Given the description of an element on the screen output the (x, y) to click on. 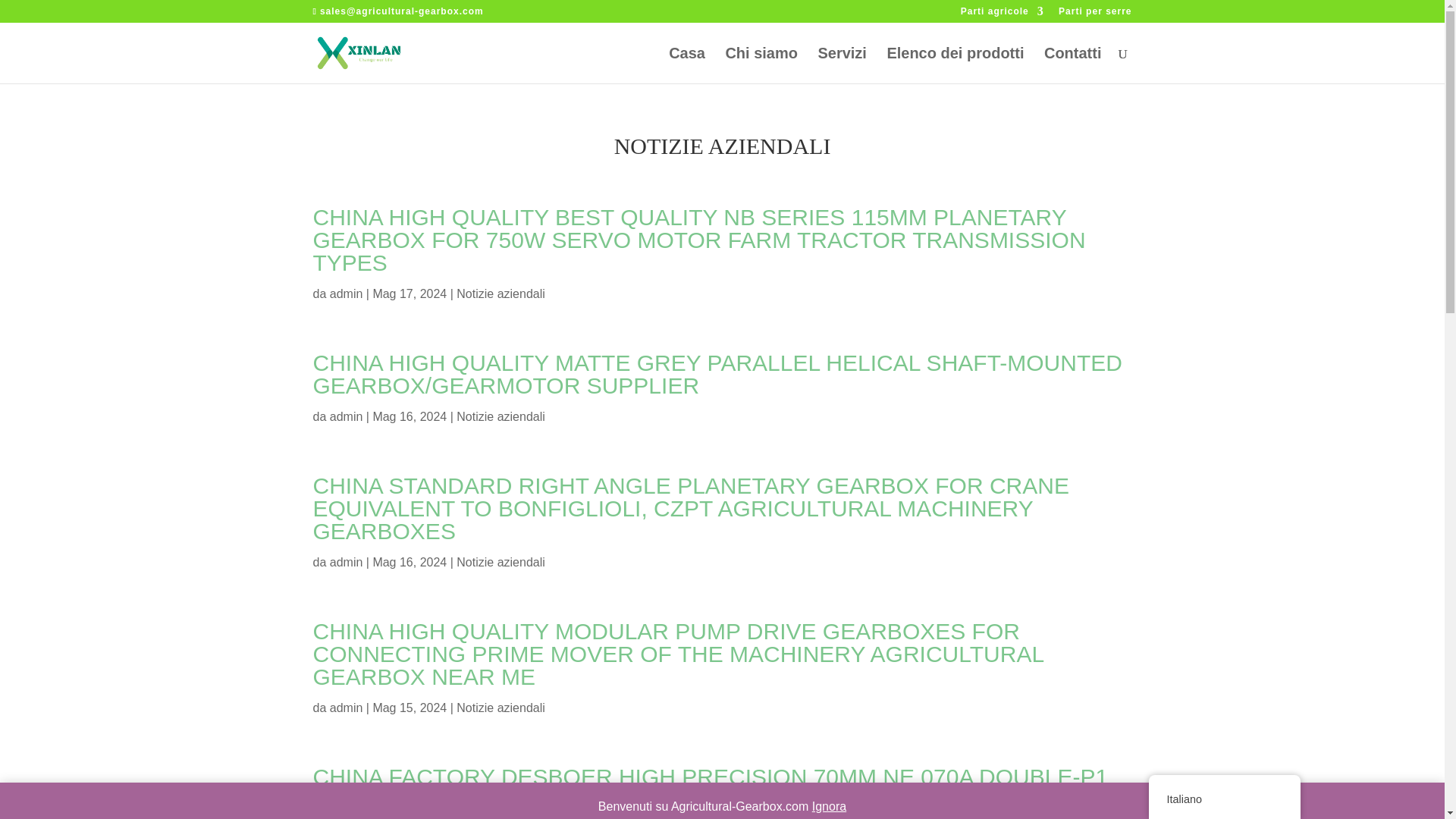
Parti agricole (1001, 14)
Chi siamo (761, 65)
Casa (686, 65)
Post di admin (346, 562)
Notizie aziendali (500, 562)
Notizie aziendali (500, 707)
Post di admin (346, 707)
Post di admin (346, 293)
Parti per serre (1094, 14)
